Given the description of an element on the screen output the (x, y) to click on. 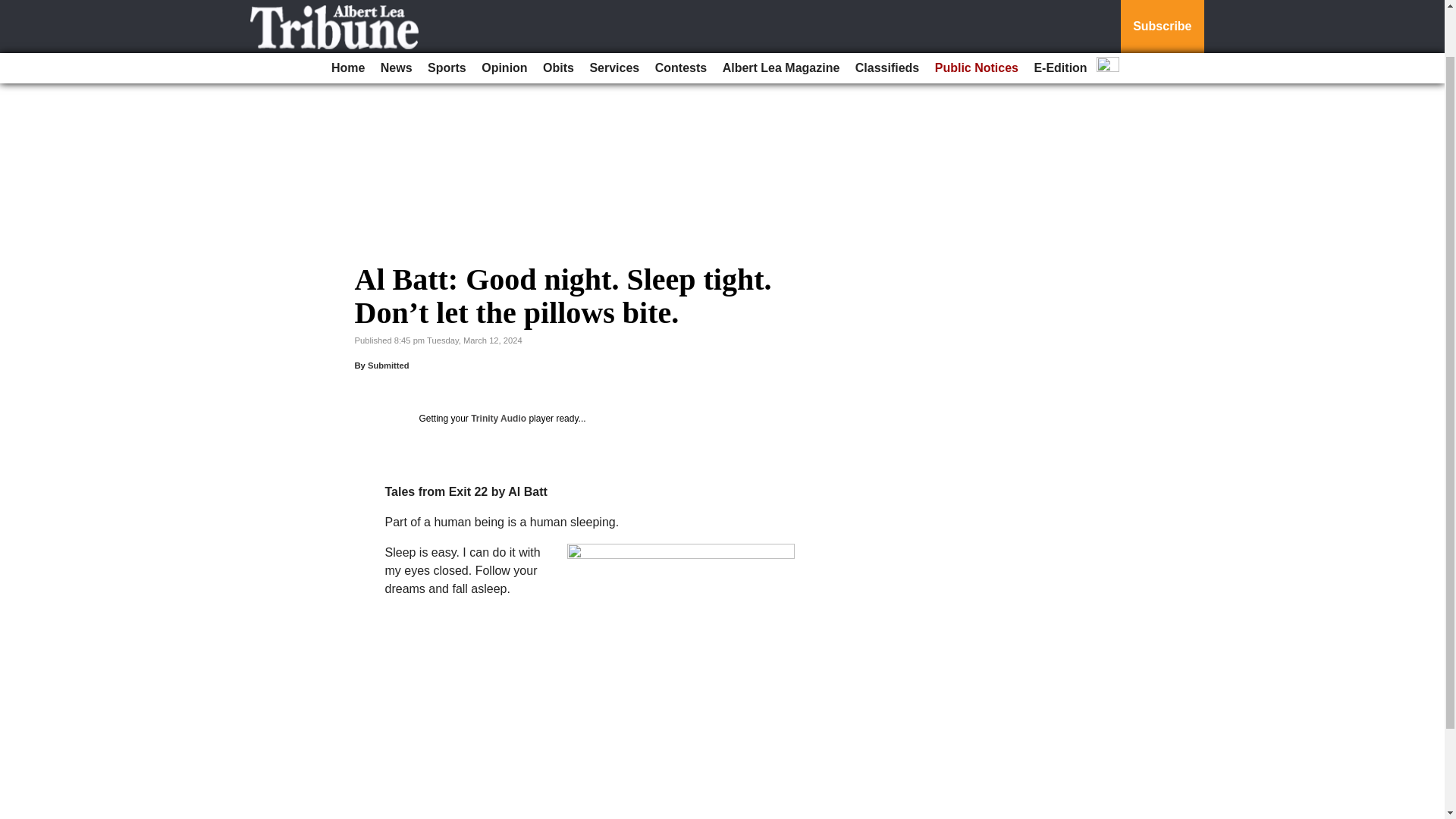
News (396, 13)
Opinion (504, 13)
Services (614, 13)
Home (347, 13)
Obits (558, 13)
Sports (446, 13)
